Given the description of an element on the screen output the (x, y) to click on. 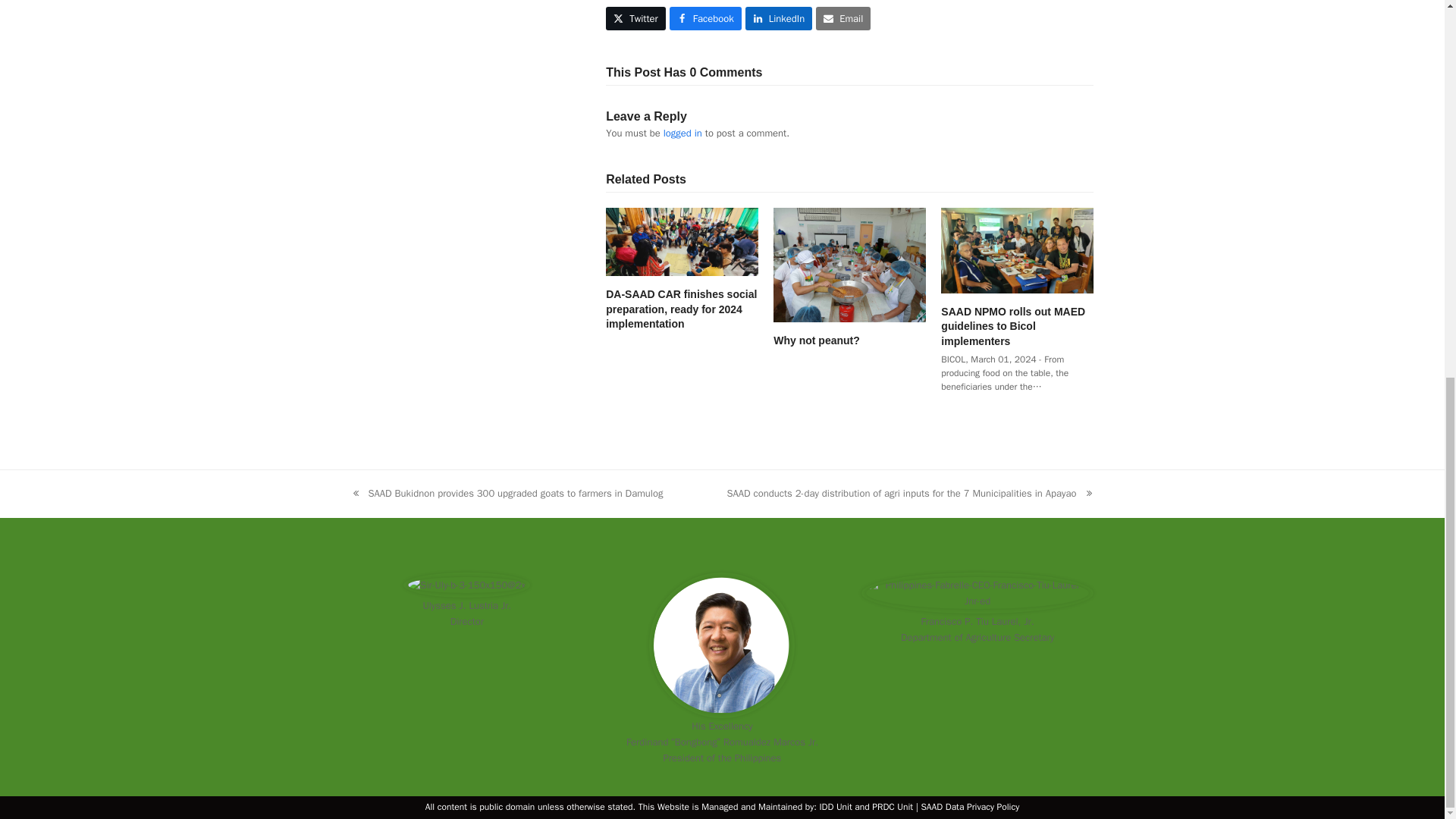
SAAD NPMO rolls out MAED guidelines to Bicol implementers (1016, 250)
Why not peanut? (849, 265)
Philippines-Fabrelle-CEO-Francisco-Tiu-Laurel-Jnr-ed (977, 593)
BBM footer-3 (721, 645)
